Given the description of an element on the screen output the (x, y) to click on. 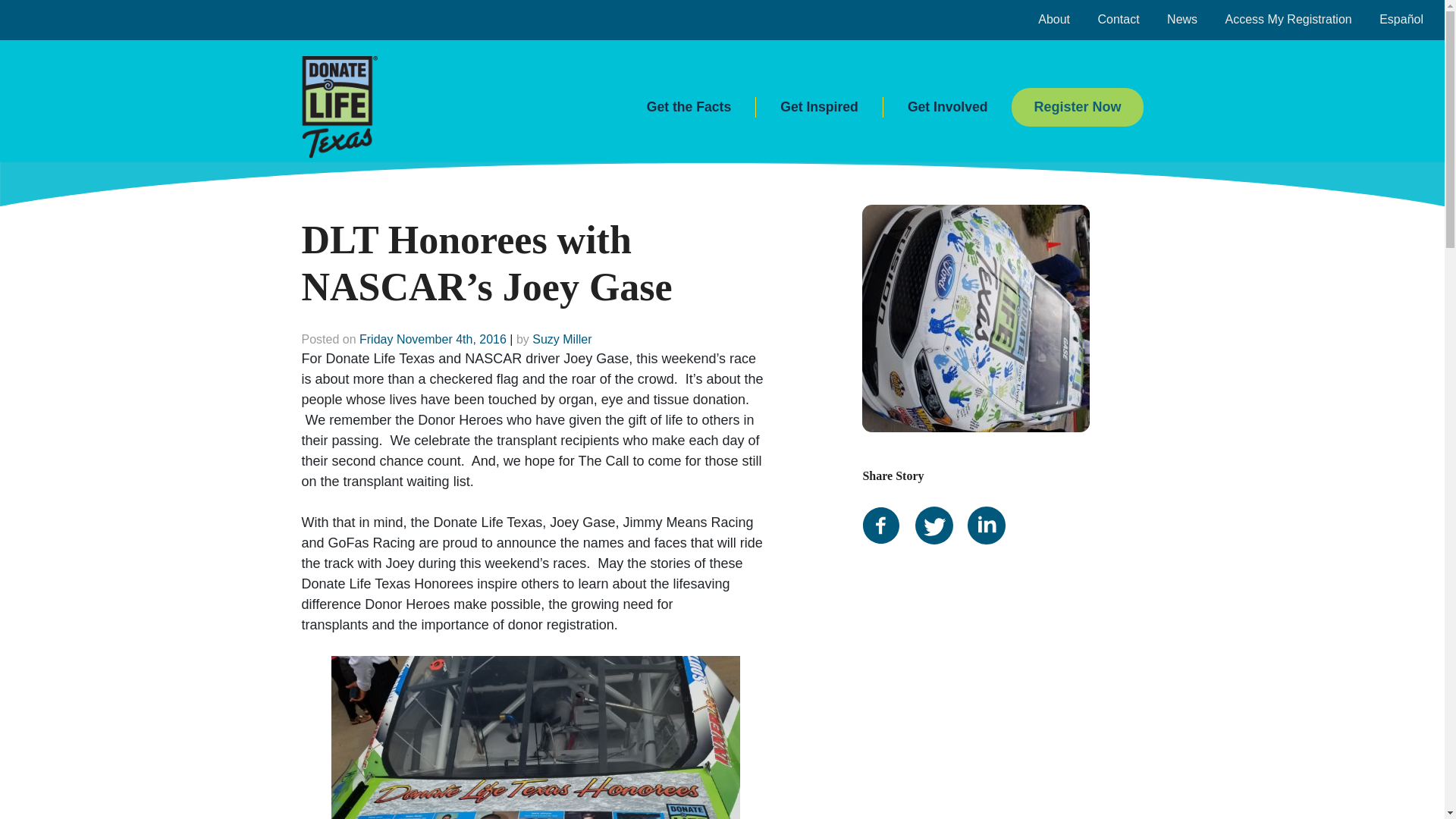
Contact (1117, 19)
Suzy Miller (561, 338)
Share on Linkedin (992, 503)
News (1181, 19)
Share on Twitter (939, 503)
Register Now (1076, 106)
Get Involved (947, 107)
Get Inspired (819, 107)
Share on Facebook (886, 503)
Access My Registration (1288, 19)
Register Now (1076, 106)
Get Involved (947, 107)
Get Inspired (819, 107)
About (1054, 19)
Get the Facts (688, 107)
